Given the description of an element on the screen output the (x, y) to click on. 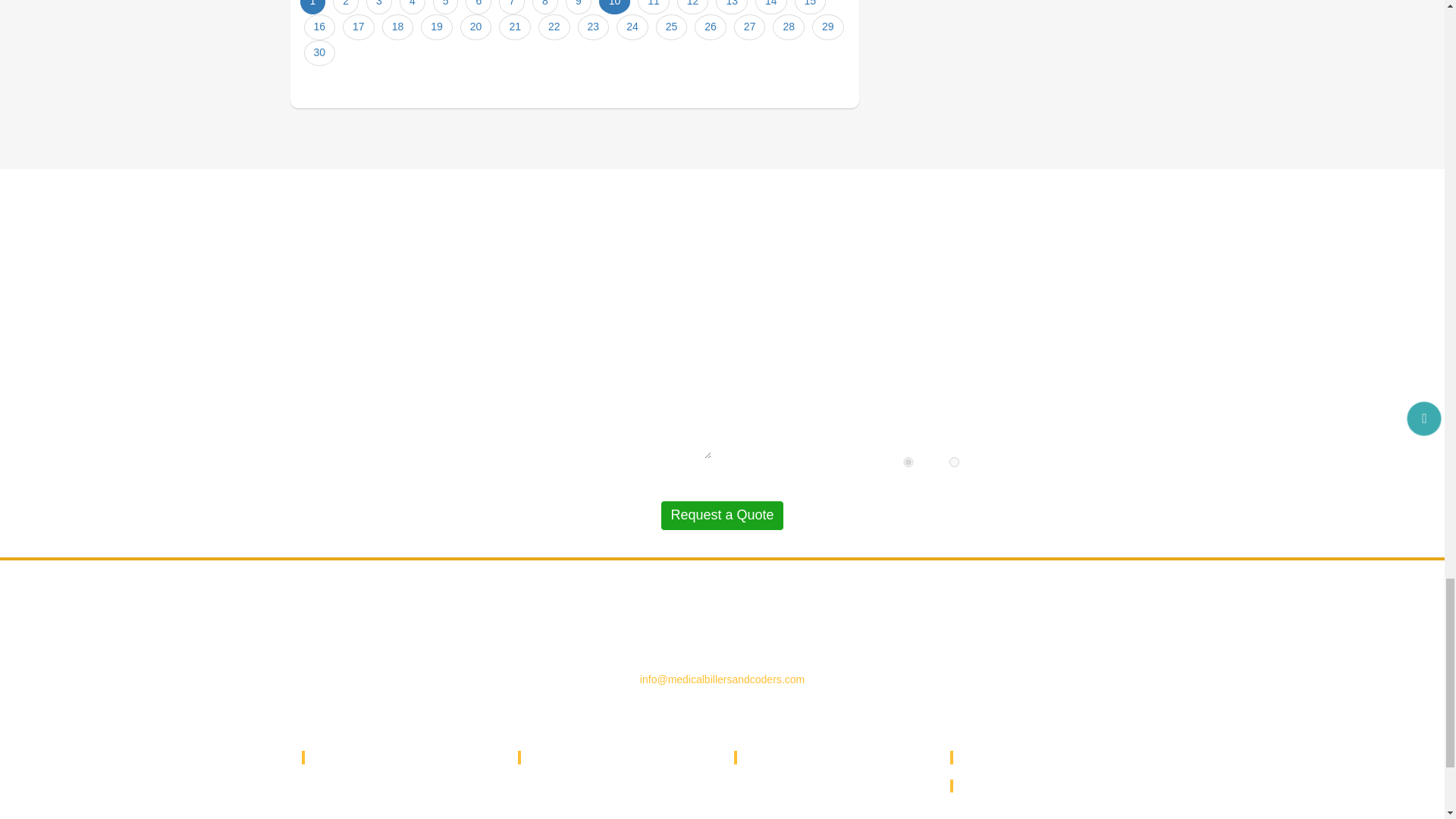
No (954, 461)
Yes (907, 461)
